Given the description of an element on the screen output the (x, y) to click on. 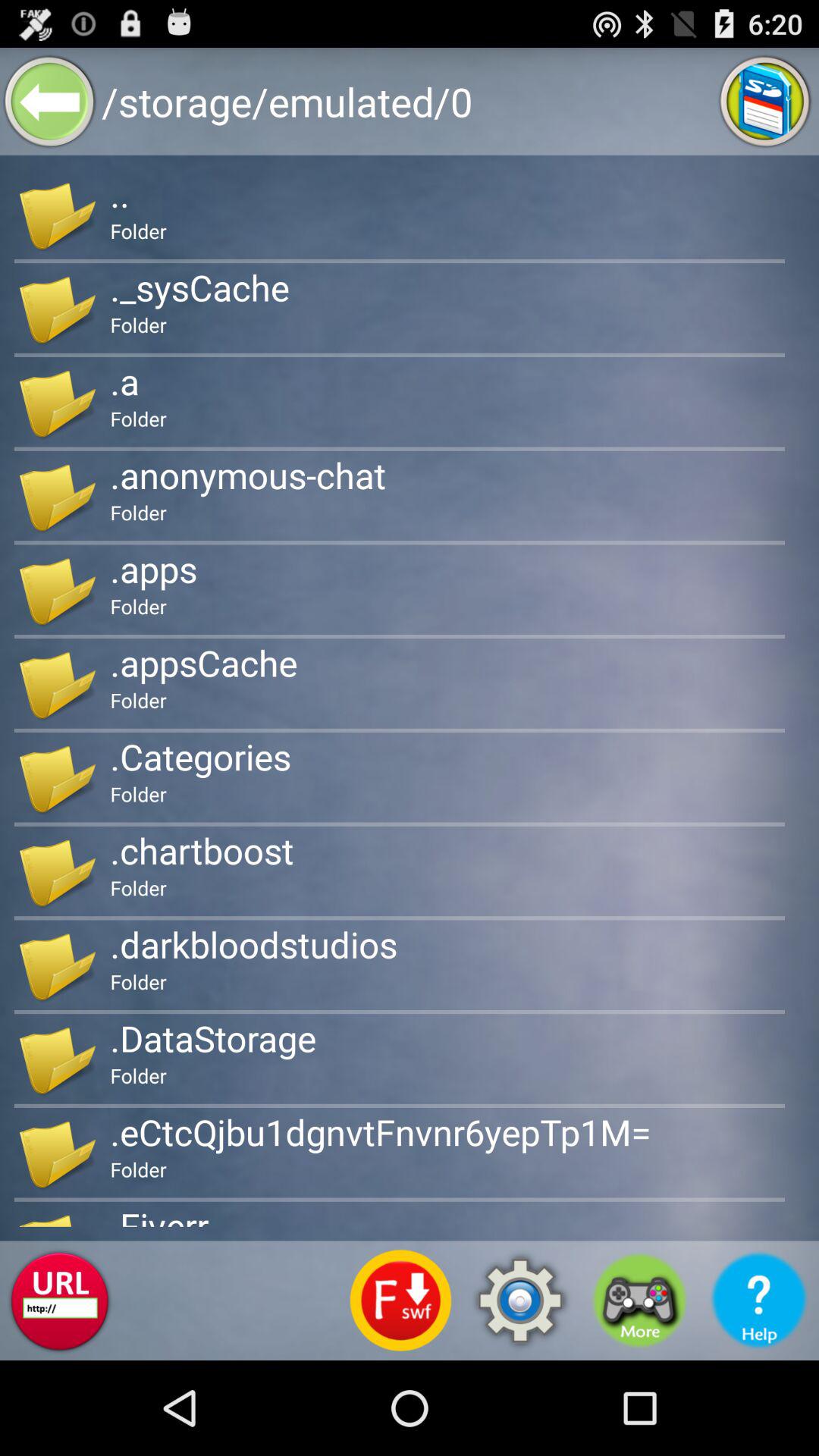
url (59, 1300)
